Given the description of an element on the screen output the (x, y) to click on. 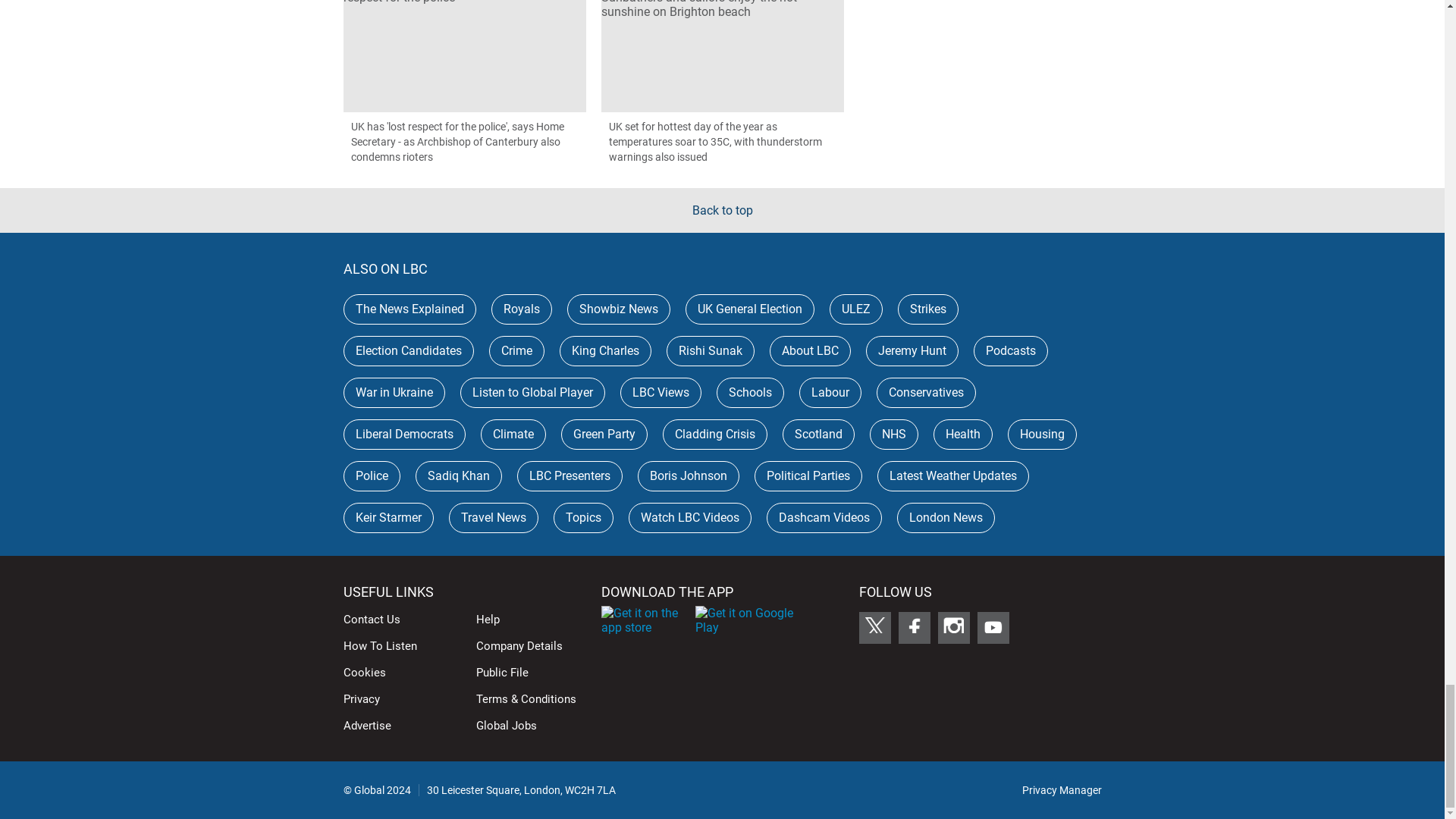
Follow LBC on X (874, 627)
Follow LBC on Youtube (992, 627)
Follow LBC on Facebook (914, 627)
Follow LBC on Instagram (953, 627)
Back to top (721, 210)
